Given the description of an element on the screen output the (x, y) to click on. 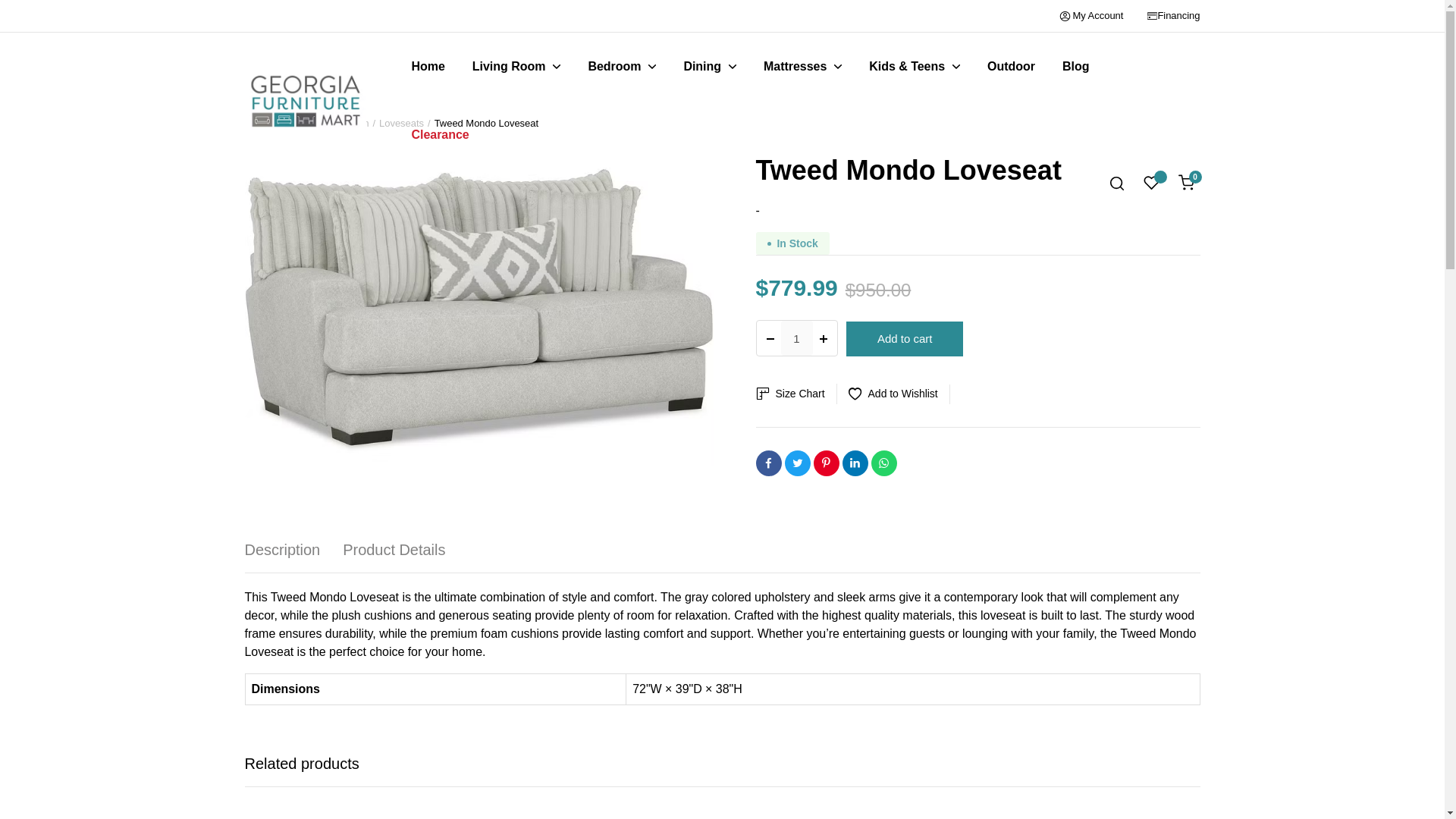
Home (427, 66)
1 (796, 338)
Living Room (515, 66)
My Account (1091, 15)
Financing (1178, 15)
Bedroom (622, 66)
Georgia Furniture Mart (304, 100)
